Given the description of an element on the screen output the (x, y) to click on. 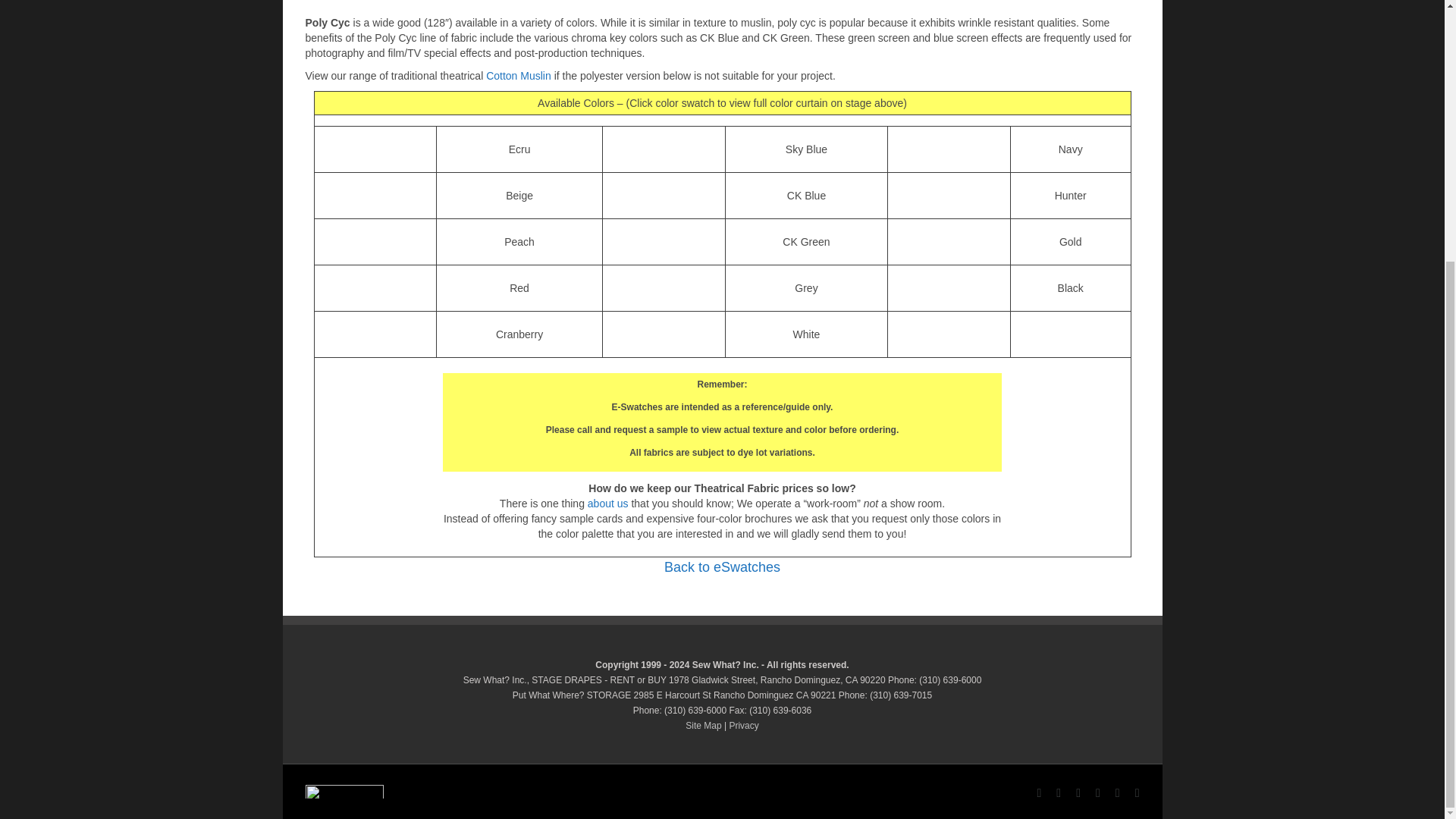
Pinterest (1117, 793)
Instagram (1098, 793)
Facebook (1038, 793)
YouTube (1077, 793)
Flickr (1059, 793)
